Given the description of an element on the screen output the (x, y) to click on. 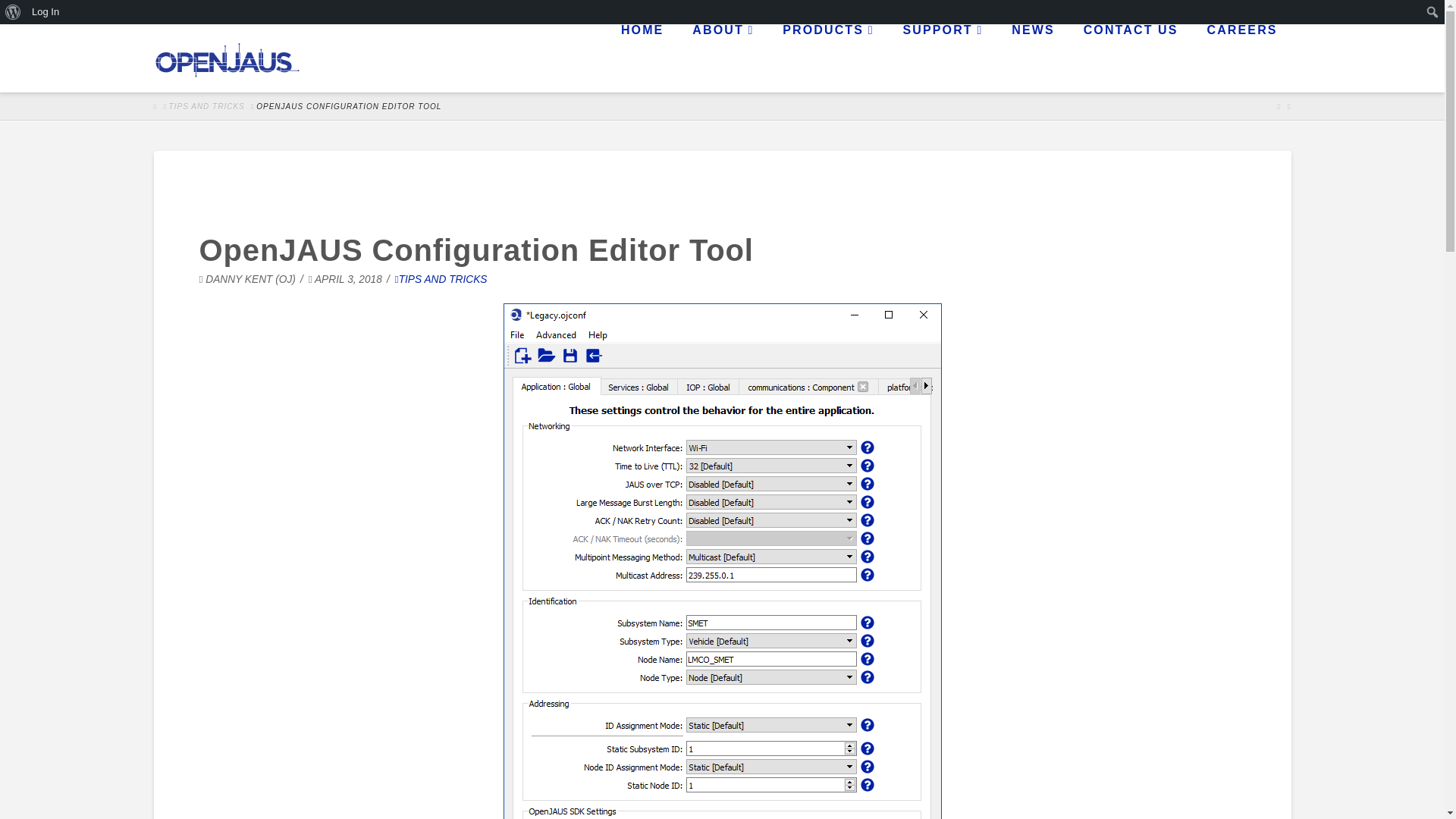
NEWS (1031, 58)
CAREERS (1240, 58)
ABOUT (722, 58)
CONTACT US (1130, 58)
Log In (45, 12)
HOME (641, 58)
PRODUCTS (826, 58)
Search (30, 24)
SUPPORT (942, 58)
You Are Here (348, 106)
